Given the description of an element on the screen output the (x, y) to click on. 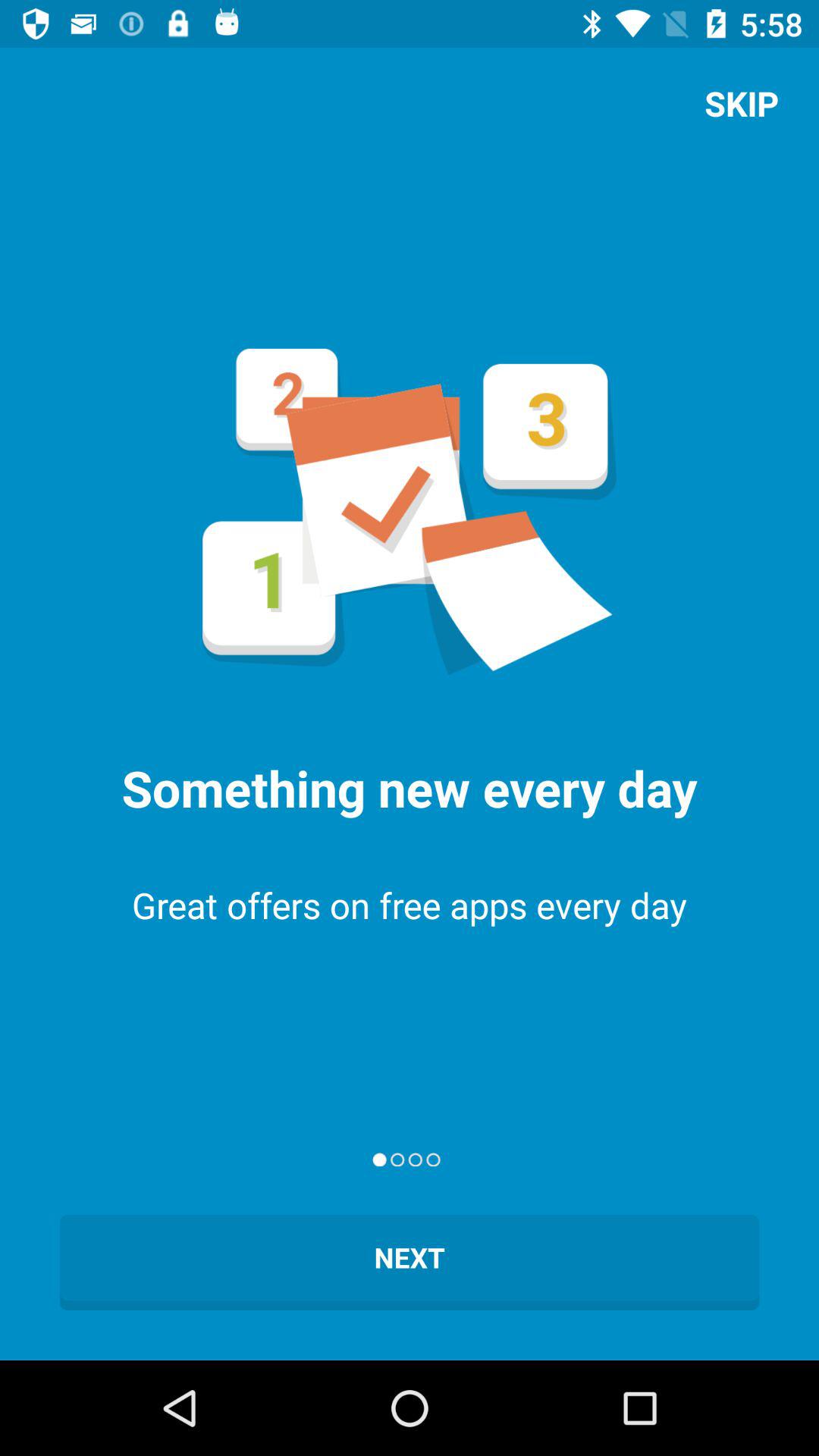
swipe to the next button (409, 1262)
